Given the description of an element on the screen output the (x, y) to click on. 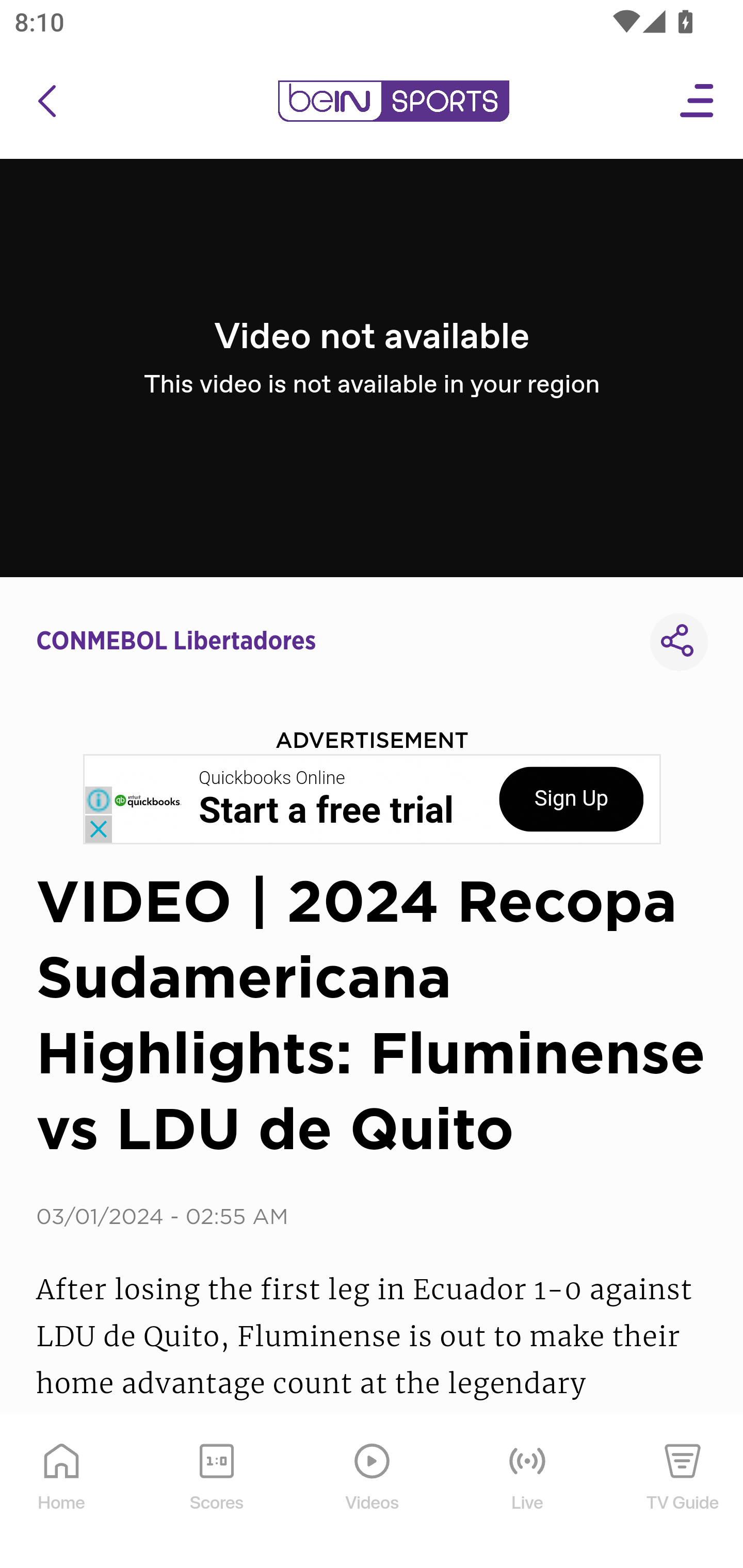
en-us?platform=mobile_android bein logo (392, 101)
icon back (46, 101)
Open Menu Icon (697, 101)
Quickbooks Online (272, 778)
Sign Up (571, 799)
Start a free trial (326, 810)
Home Home Icon Home (61, 1491)
Scores Scores Icon Scores (216, 1491)
Videos Videos Icon Videos (372, 1491)
TV Guide TV Guide Icon TV Guide (682, 1491)
